Given the description of an element on the screen output the (x, y) to click on. 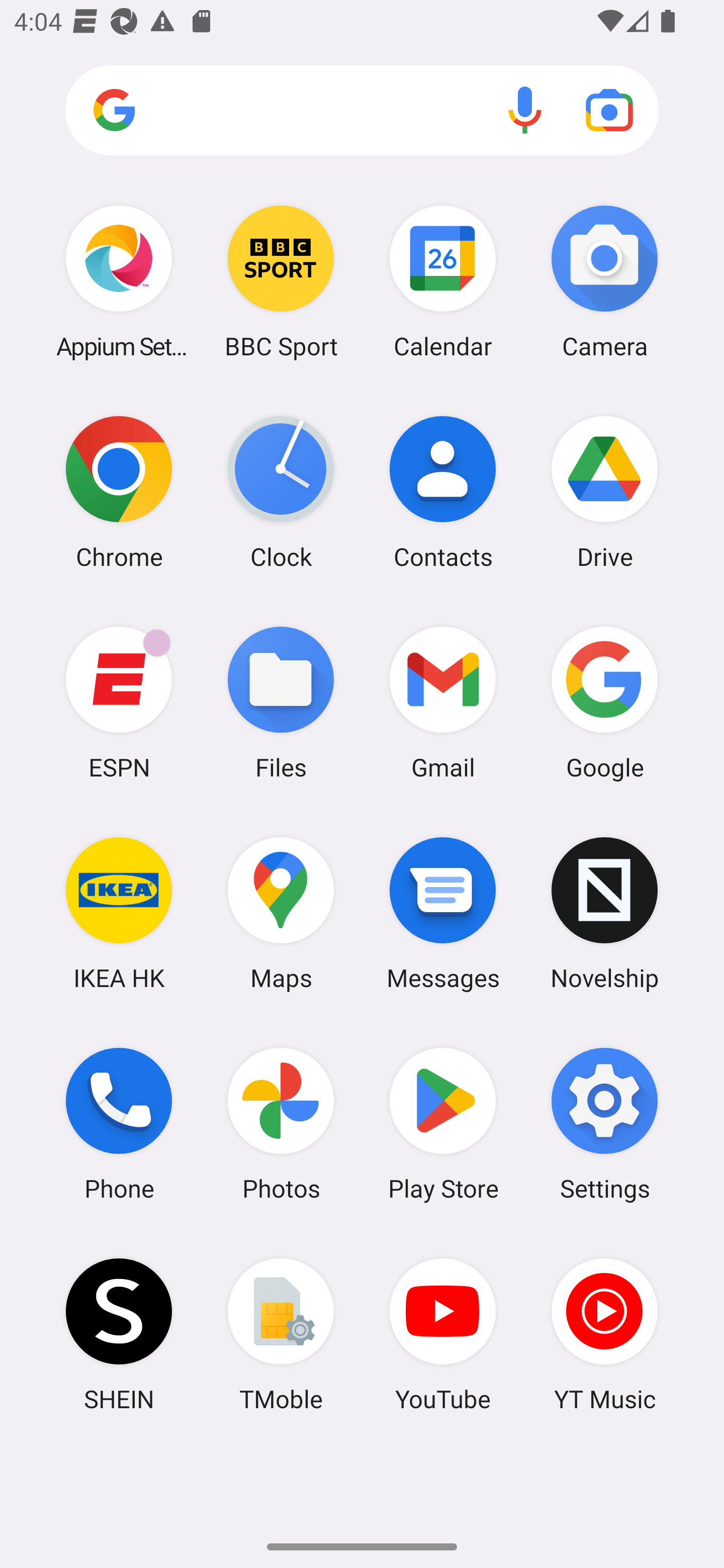
Search apps, web and more (361, 110)
Voice search (524, 109)
Google Lens (608, 109)
Appium Settings (118, 281)
BBC Sport (280, 281)
Calendar (443, 281)
Camera (604, 281)
Chrome (118, 492)
Clock (280, 492)
Contacts (443, 492)
Drive (604, 492)
ESPN ESPN has 3 notifications (118, 702)
Files (280, 702)
Gmail (443, 702)
Google (604, 702)
IKEA HK (118, 913)
Maps (280, 913)
Messages (443, 913)
Novelship (604, 913)
Phone (118, 1124)
Photos (280, 1124)
Play Store (443, 1124)
Settings (604, 1124)
SHEIN (118, 1334)
TMoble (280, 1334)
YouTube (443, 1334)
YT Music (604, 1334)
